Given the description of an element on the screen output the (x, y) to click on. 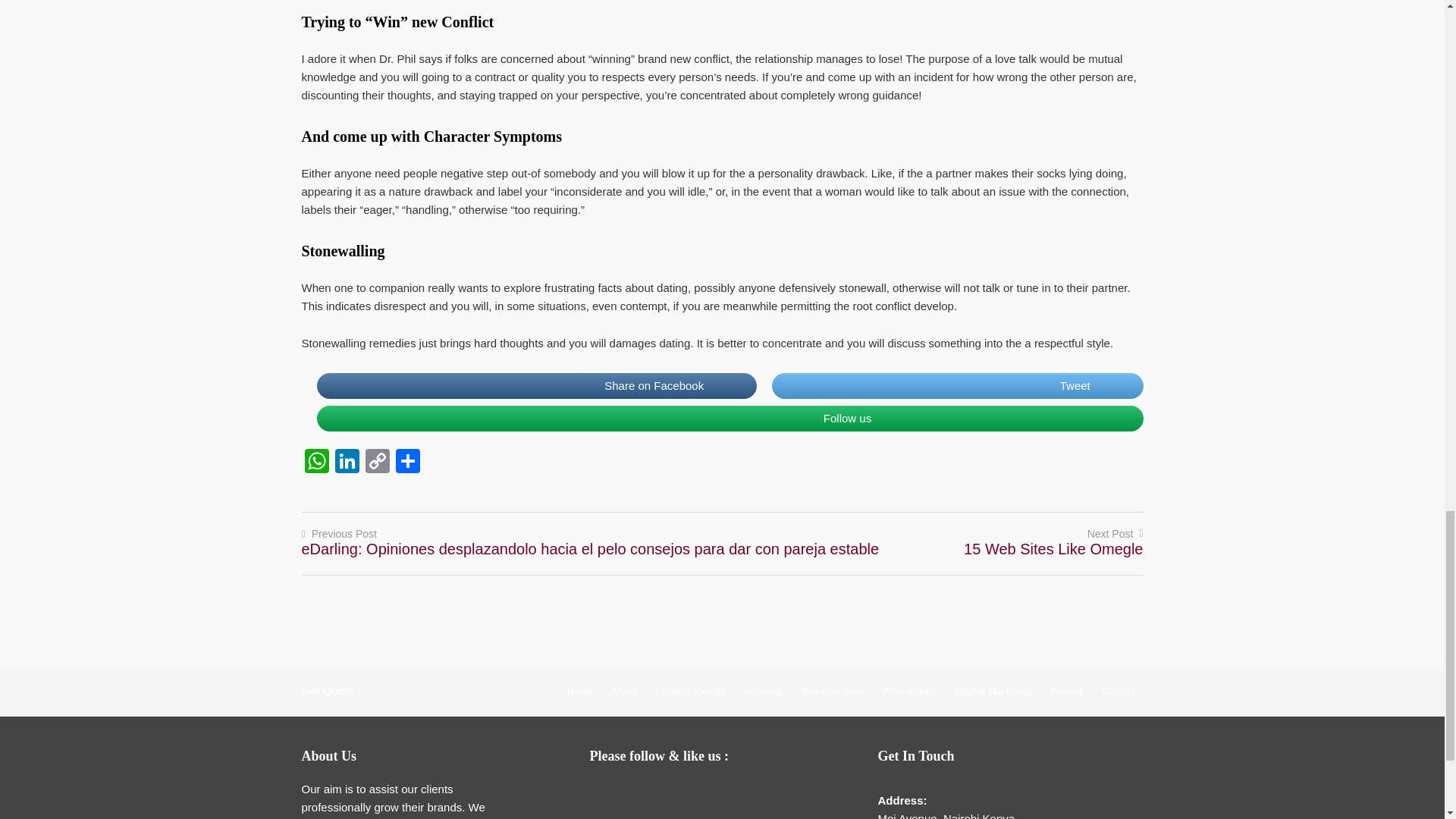
Facebook (637, 793)
Copy Link (377, 462)
Instagram (728, 793)
Follow by Email (606, 793)
WhatsApp (316, 462)
LinkedIn (346, 462)
LinkedIn (698, 793)
Twitter (667, 793)
